Given the description of an element on the screen output the (x, y) to click on. 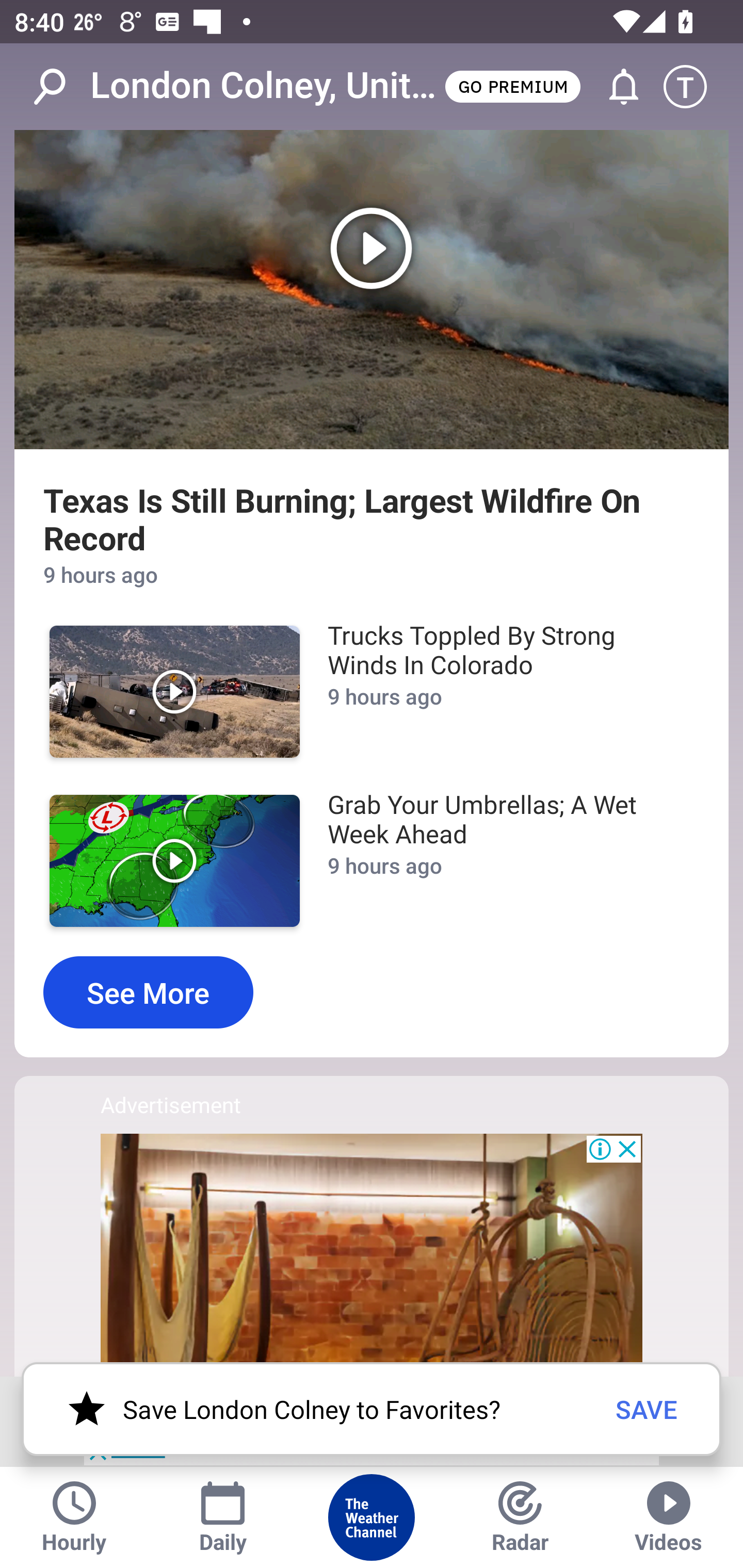
Search (59, 86)
Go to Alerts and Notifications (614, 86)
Setting icon T (694, 86)
London Colney, United Kingdom (265, 85)
GO PREMIUM (512, 85)
Play (371, 290)
Play (174, 691)
Grab Your Umbrellas; A Wet Week Ahead 9 hours ago (502, 860)
Play (174, 860)
See More (148, 992)
Save London Colney to Favorites? SAVE (371, 1409)
SAVE (646, 1408)
Hourly Tab Hourly (74, 1517)
Daily Tab Daily (222, 1517)
Radar Tab Radar (519, 1517)
Videos Tab Videos (668, 1517)
